Given the description of an element on the screen output the (x, y) to click on. 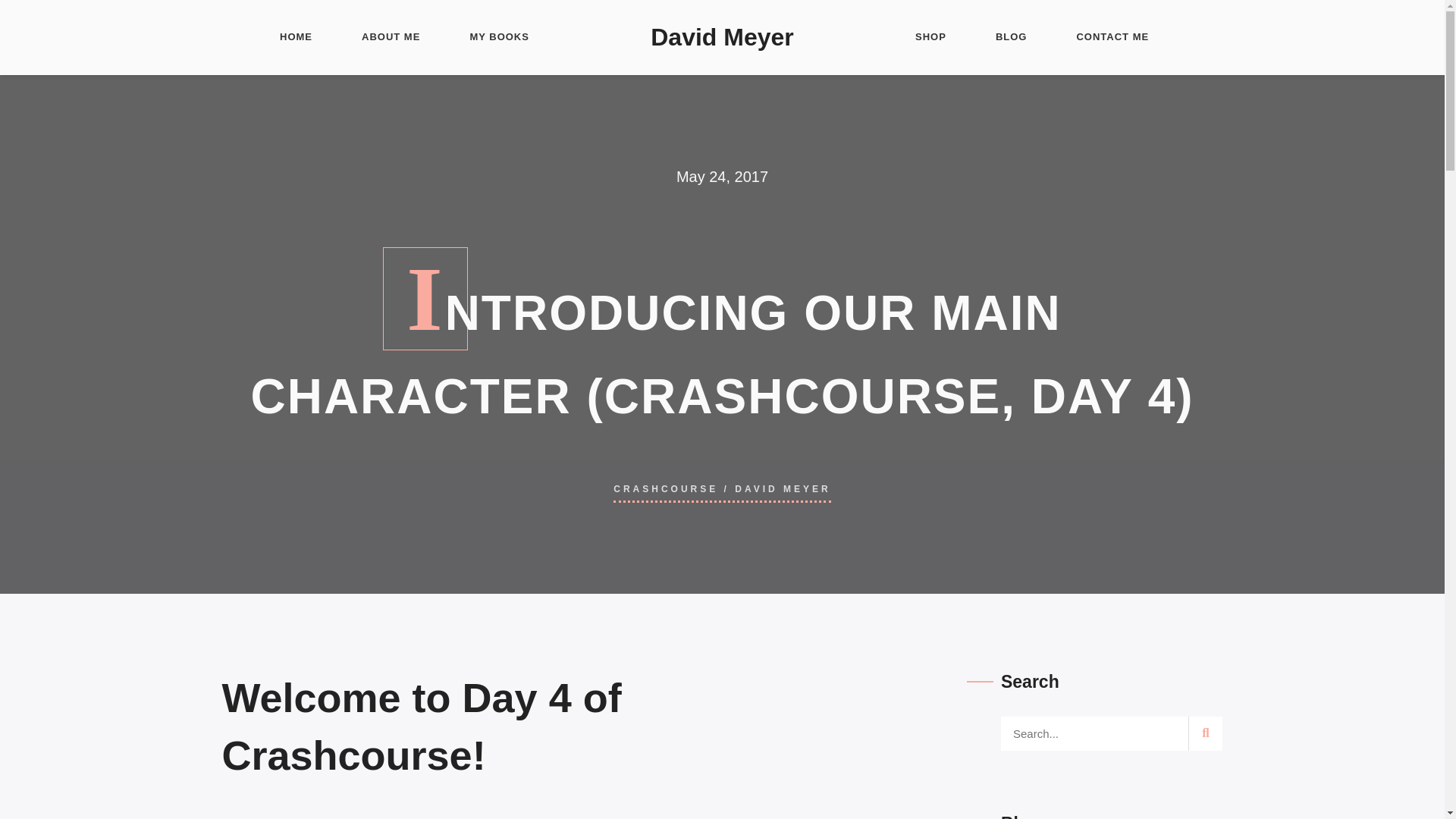
BLOG (1011, 37)
MY BOOKS (498, 37)
CONTACT ME (1112, 37)
ABOUT ME (390, 37)
DAVID MEYER (782, 489)
David Meyer (721, 37)
HOME (295, 37)
CRASHCOURSE (664, 489)
SHOP (930, 37)
